Given the description of an element on the screen output the (x, y) to click on. 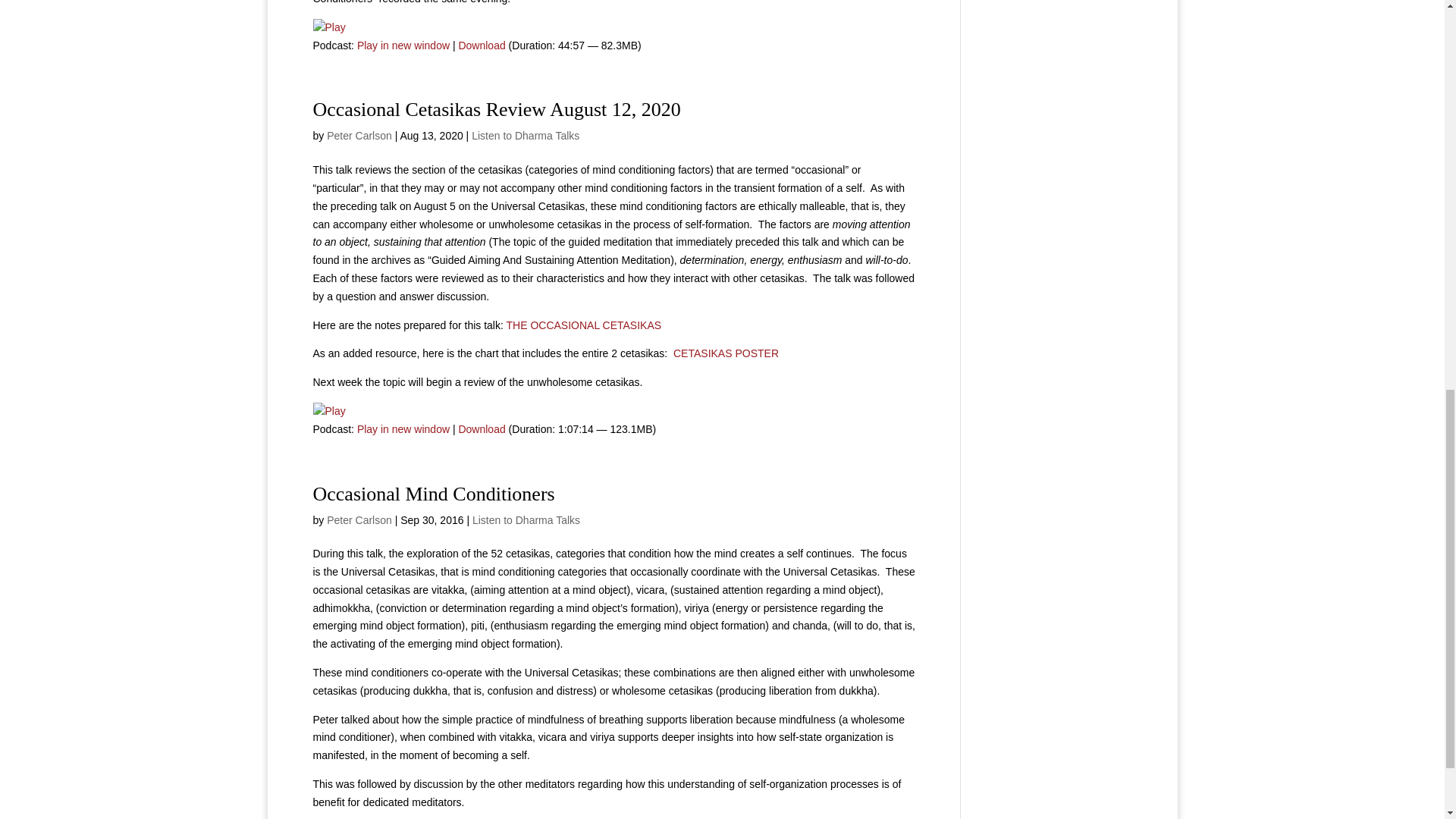
Posts by Peter Carlson (358, 520)
Posts by Peter Carlson (358, 135)
Play (329, 27)
THE OCCASIONAL CETASIKAS (584, 325)
CETASIKAS POSTER (725, 353)
Download (481, 45)
Download (481, 428)
Play in new window (402, 45)
Peter Carlson (358, 135)
Play in new window (402, 428)
